Given the description of an element on the screen output the (x, y) to click on. 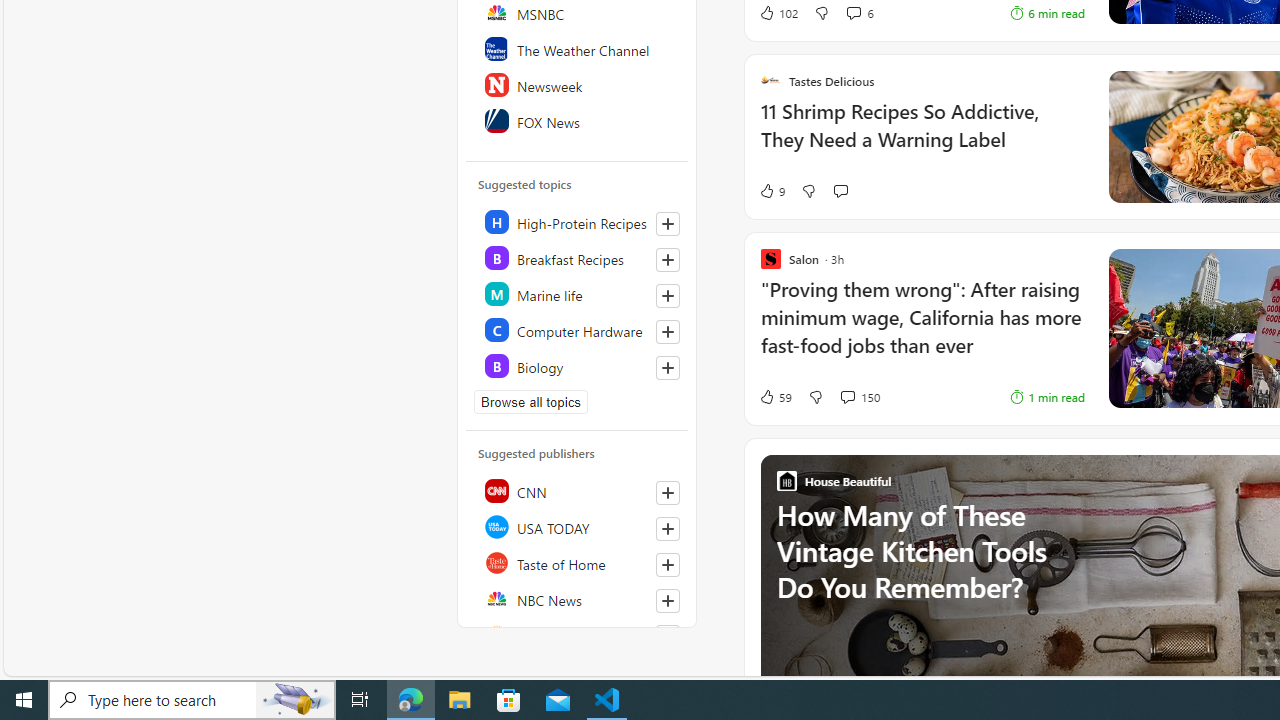
Newsweek (578, 84)
Browse all topics (530, 401)
59 Like (775, 396)
Reuters (578, 634)
9 Like (771, 191)
The Weather Channel (578, 48)
11 Shrimp Recipes So Addictive, They Need a Warning Label (922, 135)
NBC News (578, 598)
View comments 150 Comment (859, 396)
